Given the description of an element on the screen output the (x, y) to click on. 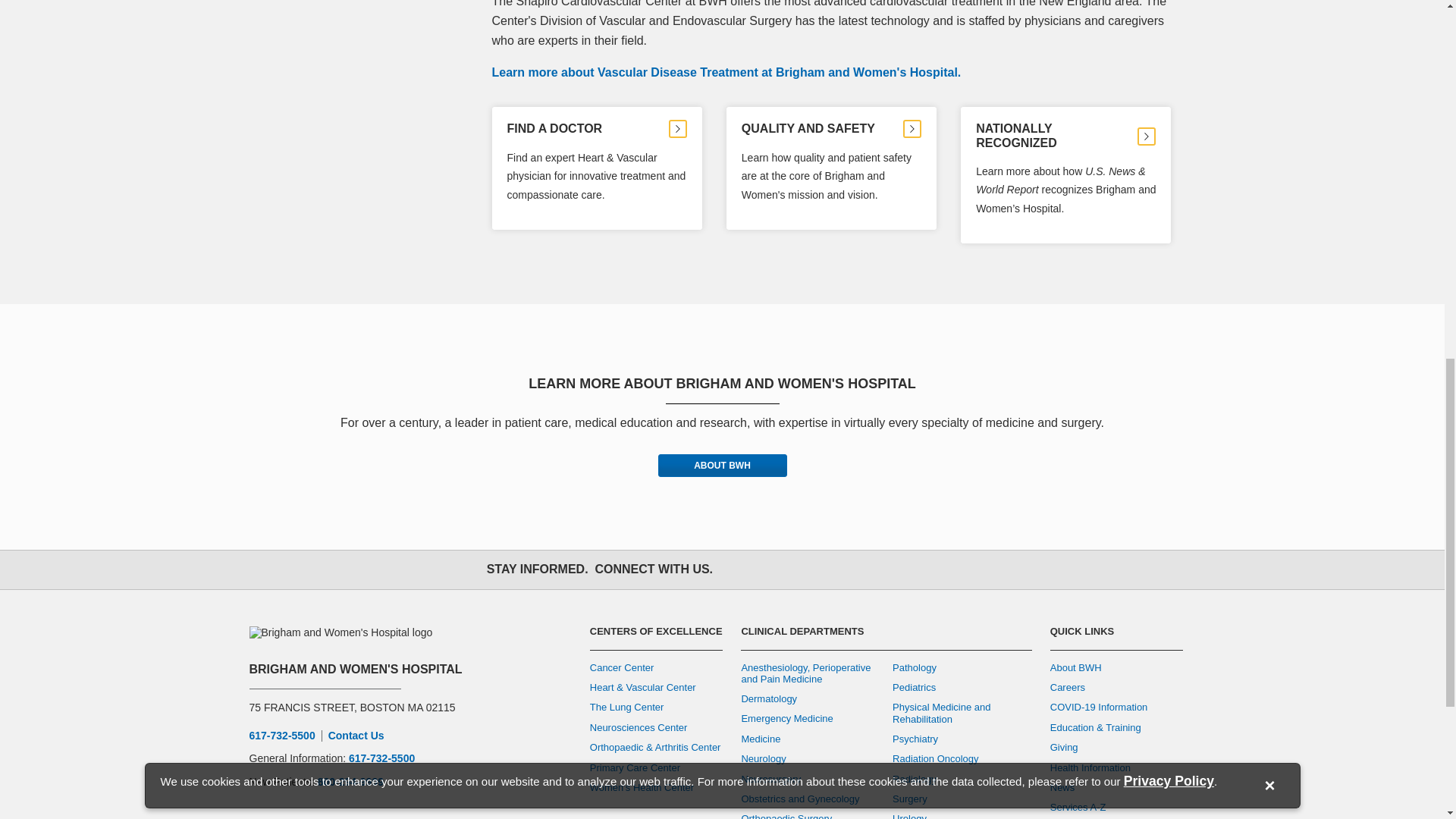
YouTube (838, 569)
LinkedIn (871, 569)
Newsroom (905, 569)
Instagram (804, 569)
Facebook (738, 569)
